Given the description of an element on the screen output the (x, y) to click on. 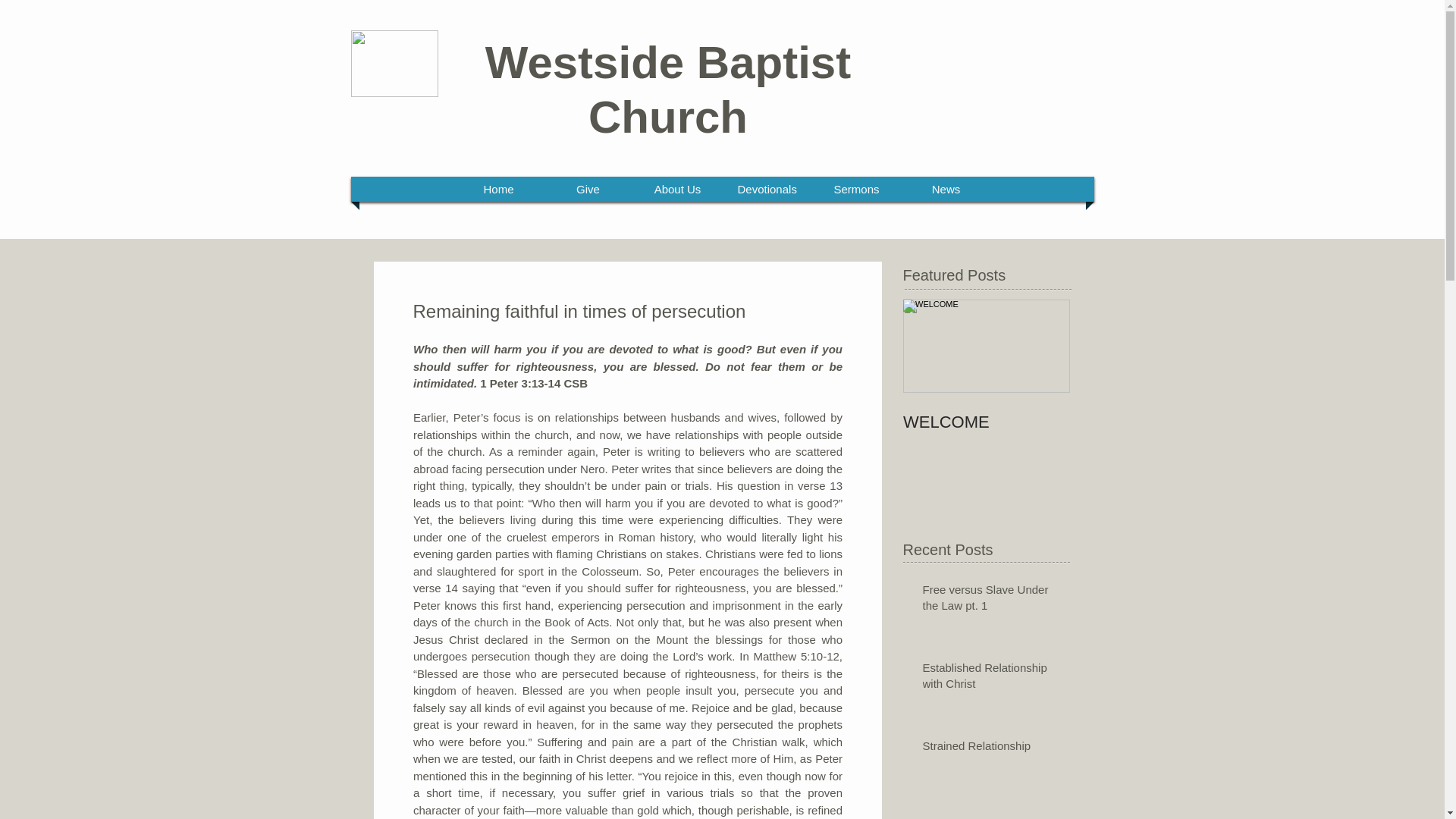
Warning of Being Enslaved by Legalism (990, 817)
News (946, 188)
Free versus Slave Under the Law pt. 1 (990, 600)
Established Relationship with Christ (990, 678)
WELCOME (985, 422)
Devotionals (767, 188)
Home (499, 188)
About Us (678, 188)
Sermons (856, 188)
Strained Relationship (990, 748)
Give (587, 188)
